Given the description of an element on the screen output the (x, y) to click on. 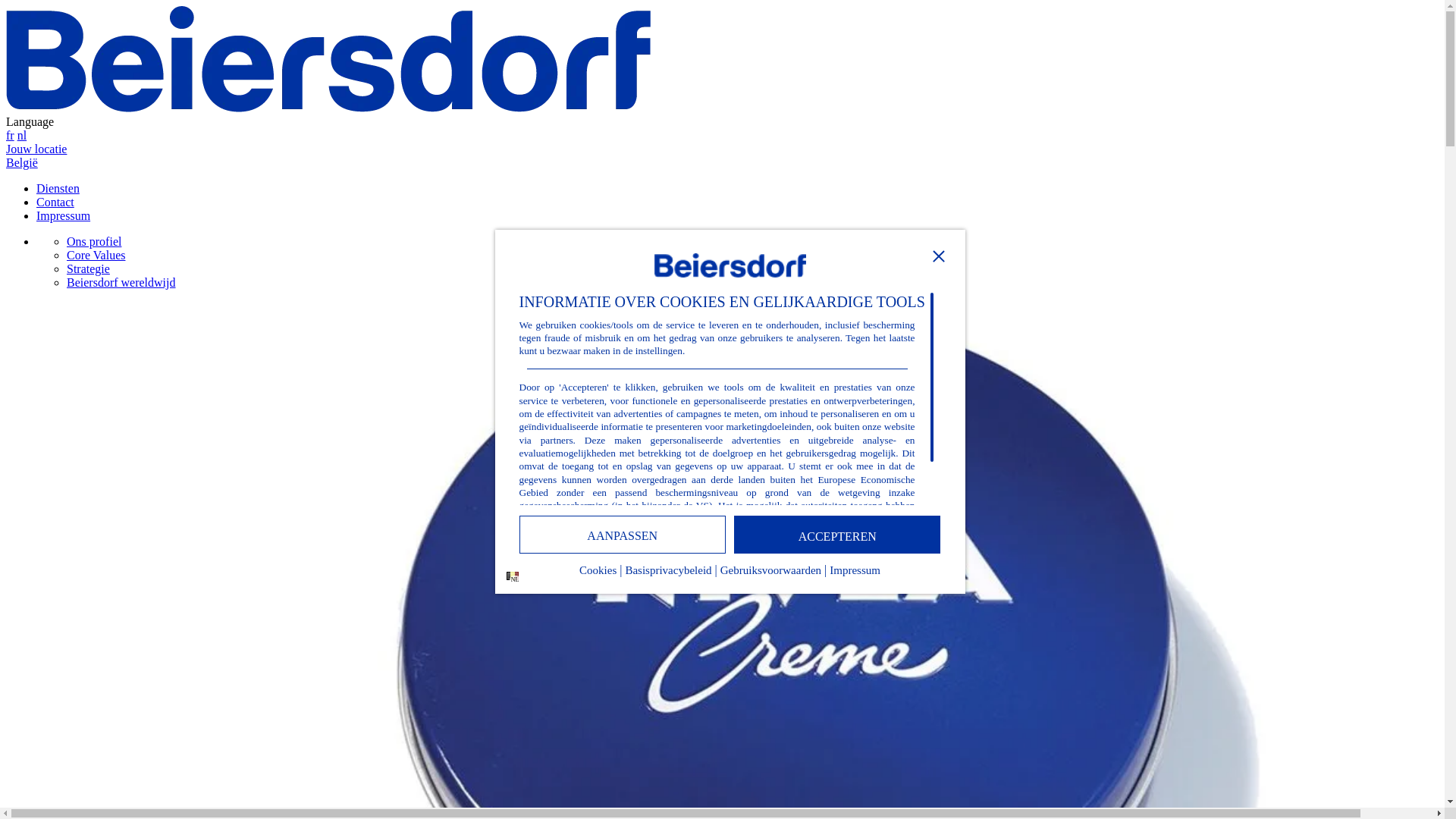
Strategie Element type: text (87, 268)
Core Values Element type: text (95, 254)
ACCEPTEREN Element type: text (837, 534)
Diensten Element type: text (57, 188)
AANPASSEN Element type: text (622, 534)
Basisprivacybeleid Element type: text (667, 574)
nl Element type: text (21, 134)
Language: nl-be Element type: hover (512, 575)
Ons profiel Element type: text (93, 241)
Gebruiksvoorwaarden Element type: text (770, 574)
Cookies Element type: text (597, 574)
Beiersdorf wereldwijd Element type: text (120, 282)
fr Element type: text (10, 134)
Impressum Element type: text (63, 215)
Impressum Element type: text (854, 574)
Contact Element type: text (55, 201)
